Given the description of an element on the screen output the (x, y) to click on. 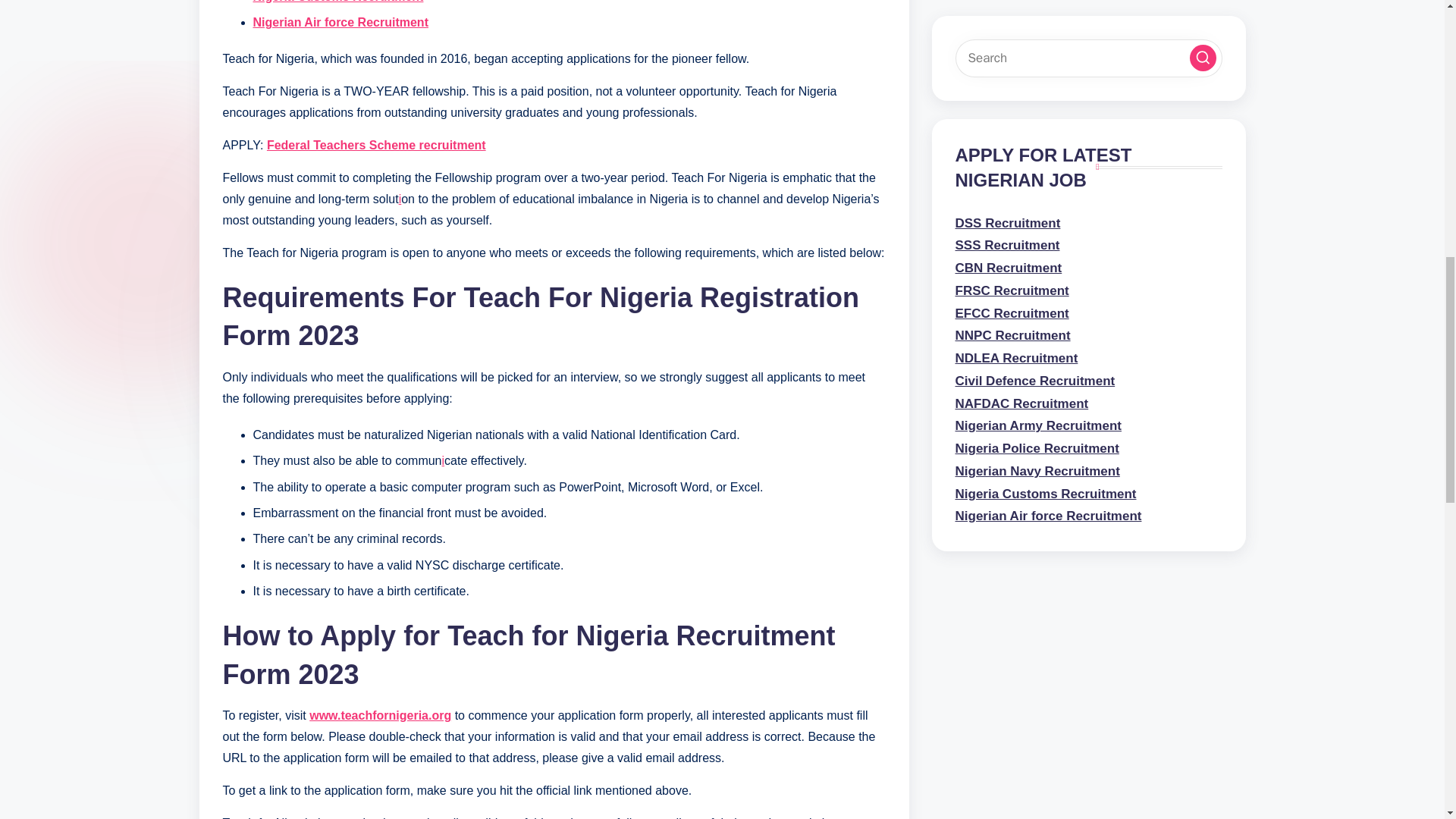
NNPC Recruitment (1012, 374)
FCSC Recruitment (1011, 351)
NAFDAC Recruitment (1022, 420)
FRSC Recruitment (1011, 261)
DSS Recruitment (1008, 284)
CBN Recruitment (1008, 329)
Advertisement (1089, 58)
NDLEA Recruitment (1016, 397)
EFCC Recruitment (1011, 307)
